Given the description of an element on the screen output the (x, y) to click on. 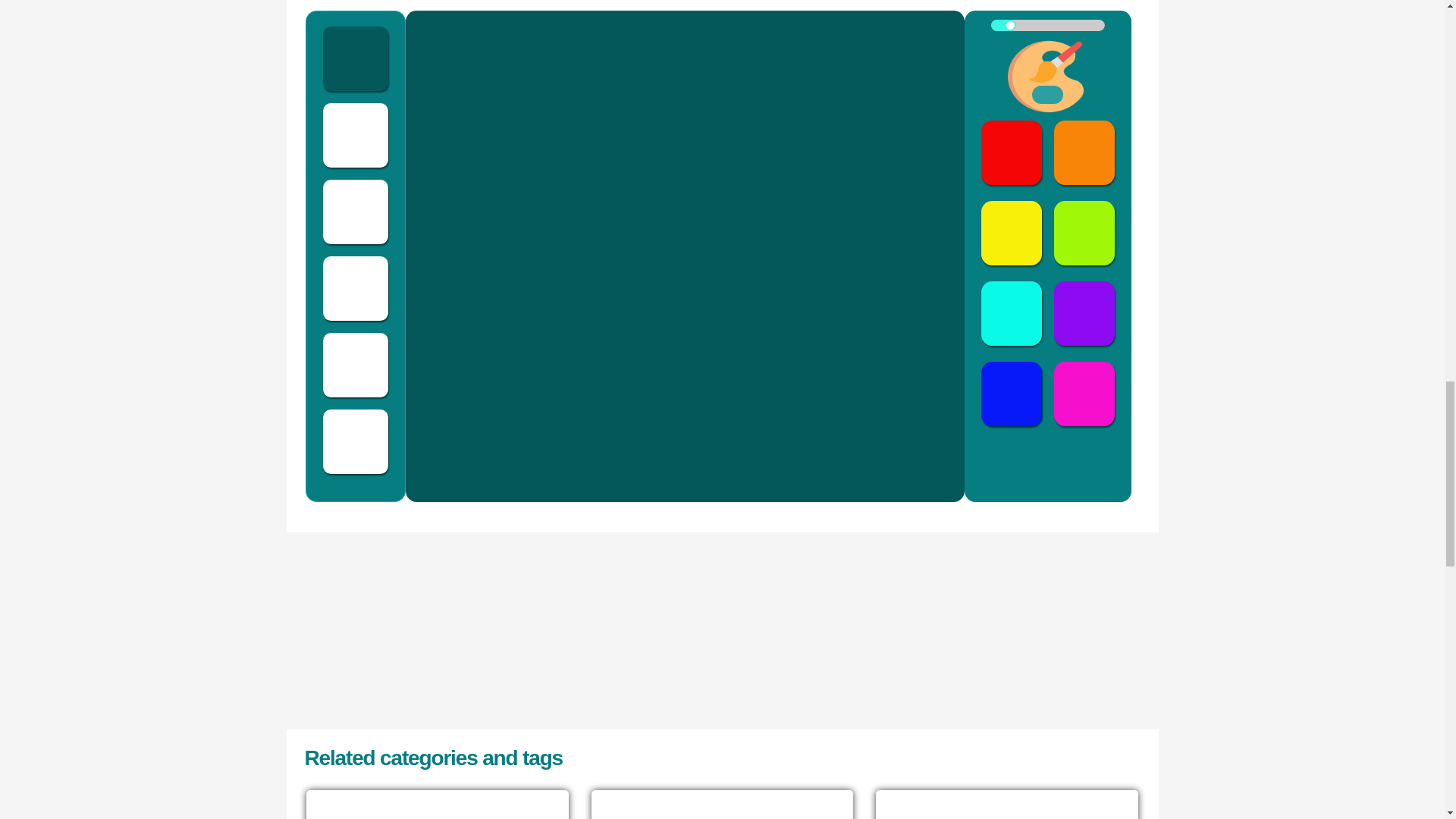
5 (1046, 25)
